Given the description of an element on the screen output the (x, y) to click on. 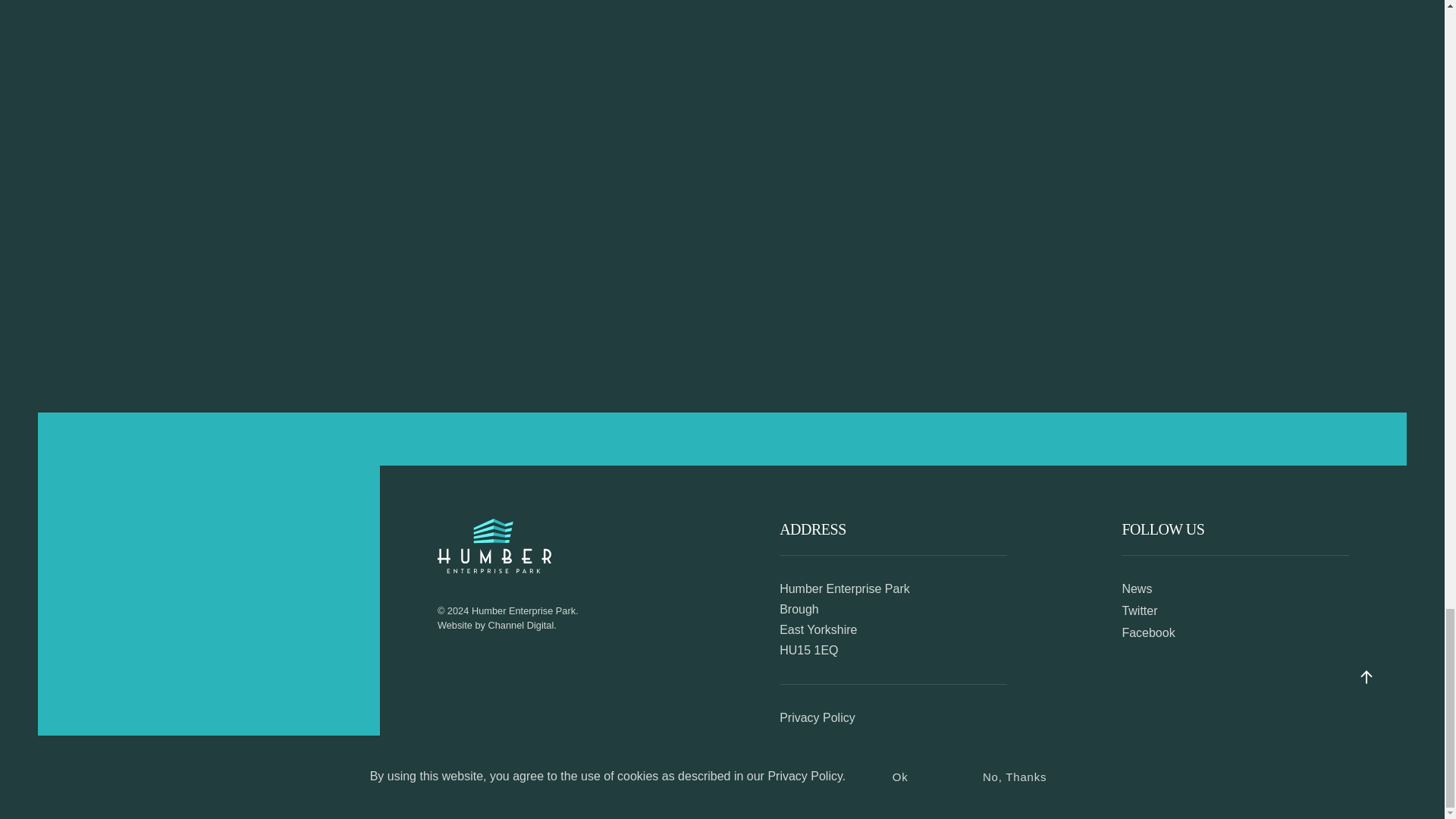
Open channeldigital.co.uk in a new tab (520, 624)
